Given the description of an element on the screen output the (x, y) to click on. 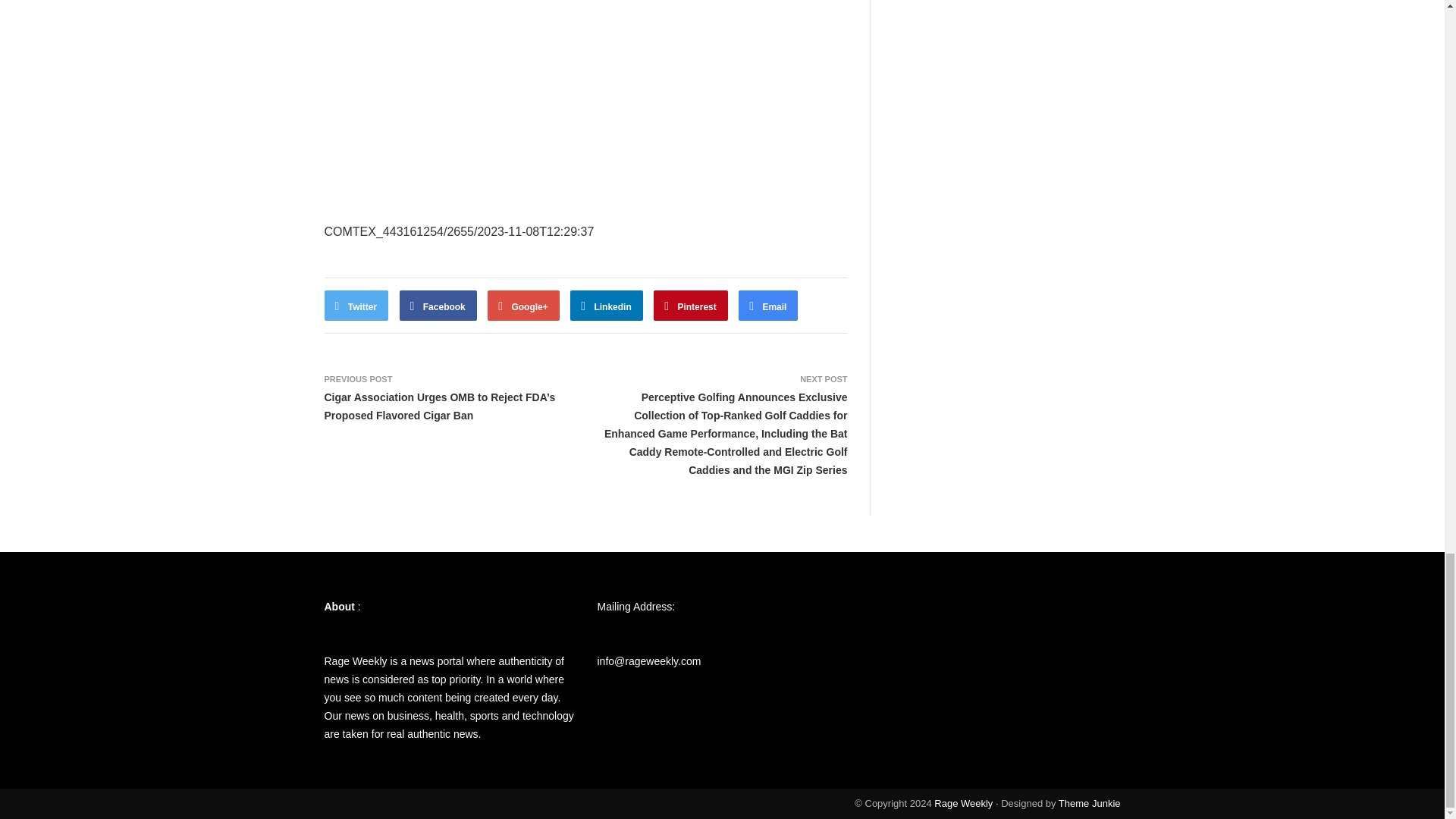
Twitter (356, 305)
Pinterest (690, 305)
Linkedin (606, 305)
Facebook (437, 305)
Email (767, 305)
